Given the description of an element on the screen output the (x, y) to click on. 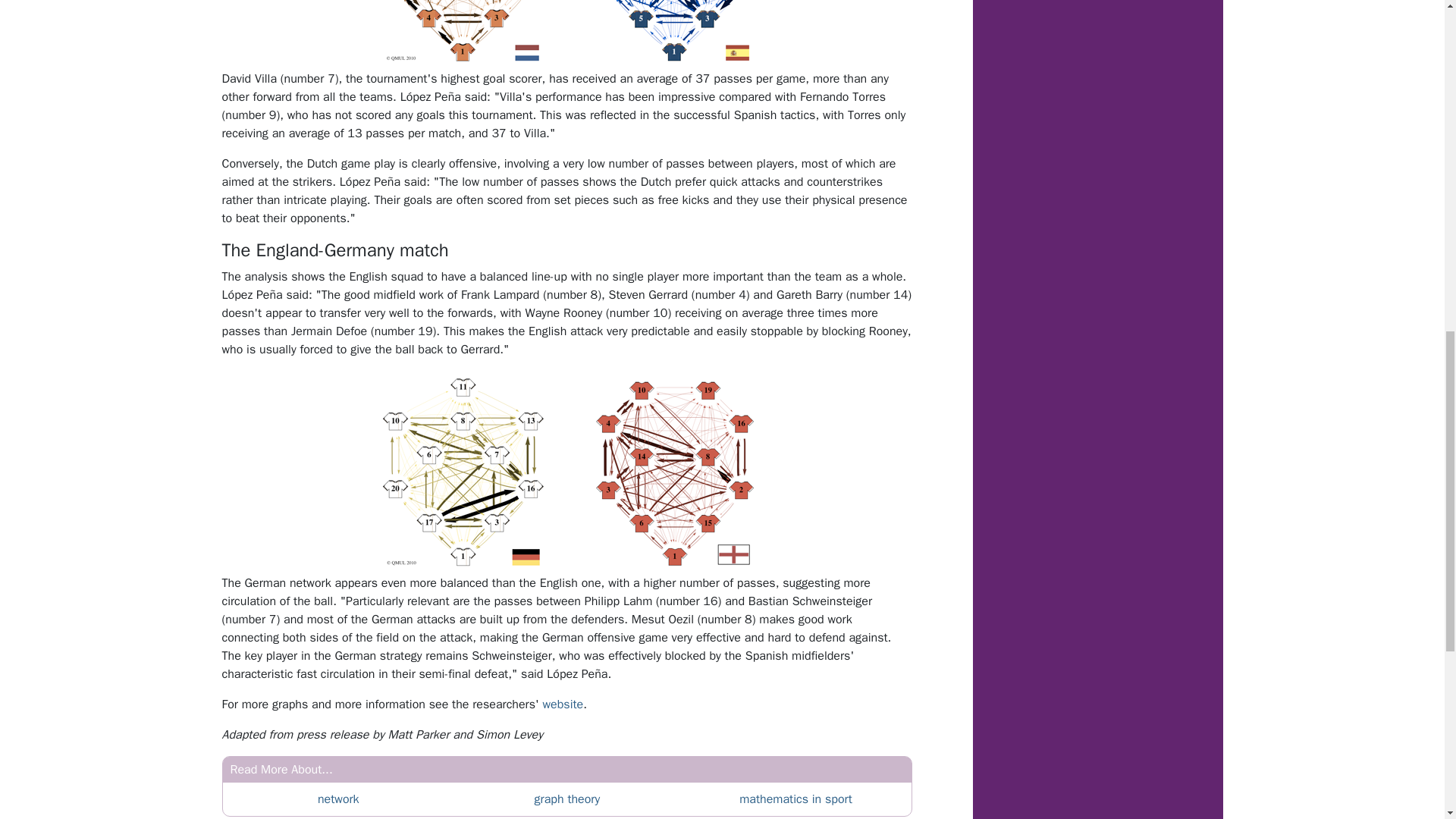
website (563, 703)
graph theory (566, 798)
network (338, 798)
mathematics in sport (795, 798)
